Given the description of an element on the screen output the (x, y) to click on. 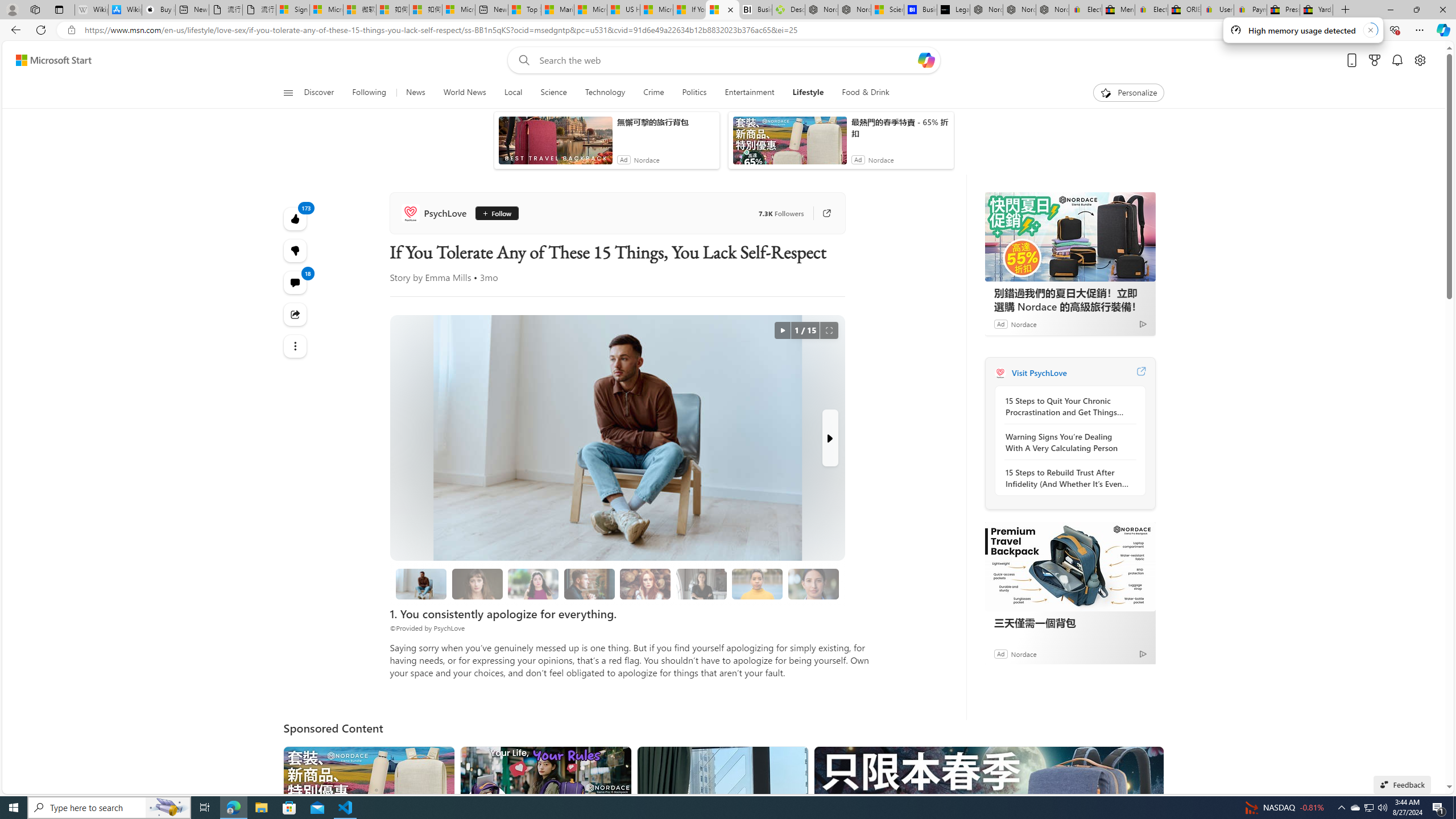
autorotate button (782, 330)
Crime (653, 92)
Web search (520, 60)
Nordace - Summer Adventures 2024 (821, 9)
Open settings (1420, 60)
Class: progress (813, 581)
Follow (496, 213)
Technology (605, 92)
Personalize (1128, 92)
